Given the description of an element on the screen output the (x, y) to click on. 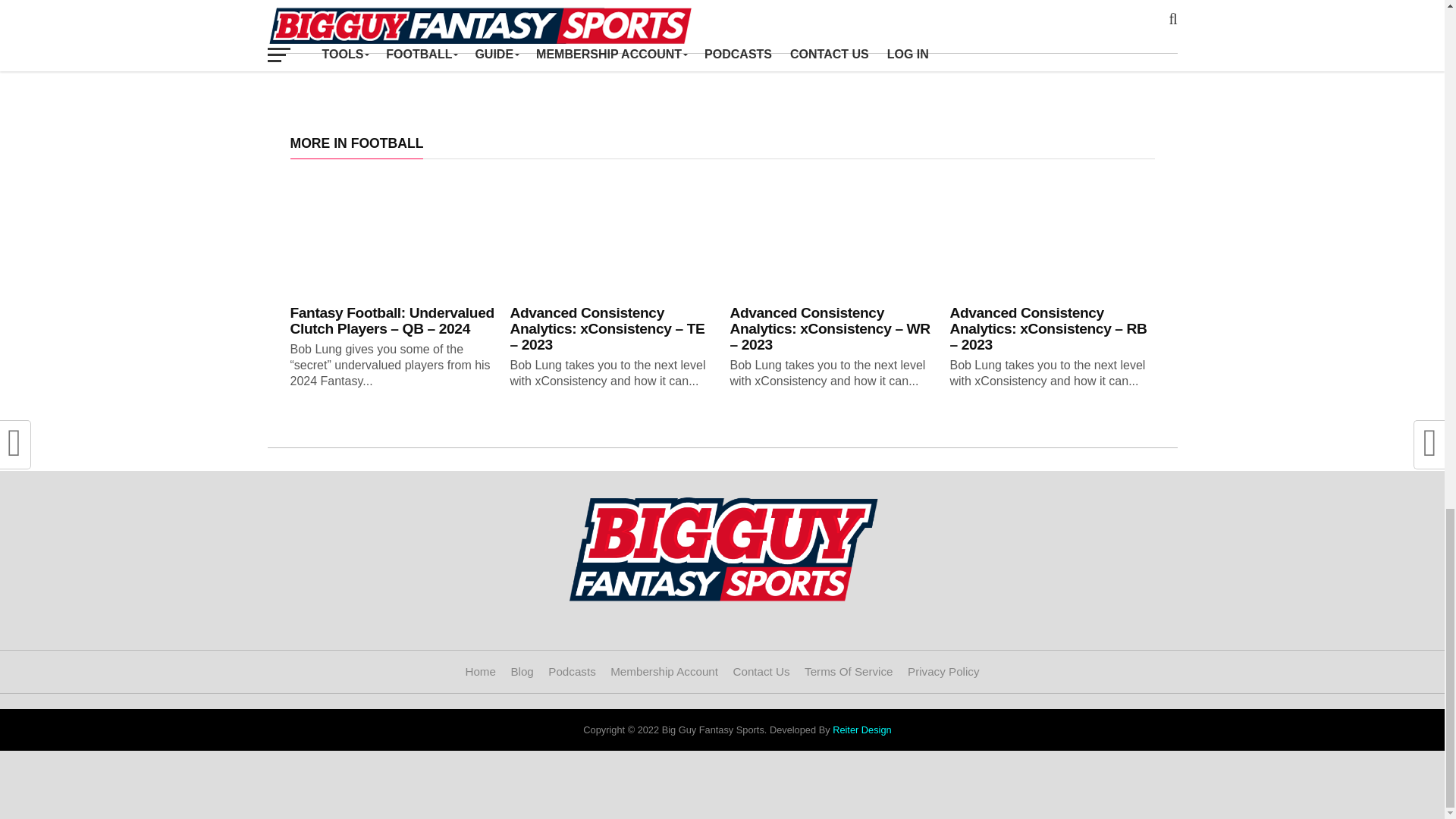
Posts by Bob Lung (435, 4)
